Given the description of an element on the screen output the (x, y) to click on. 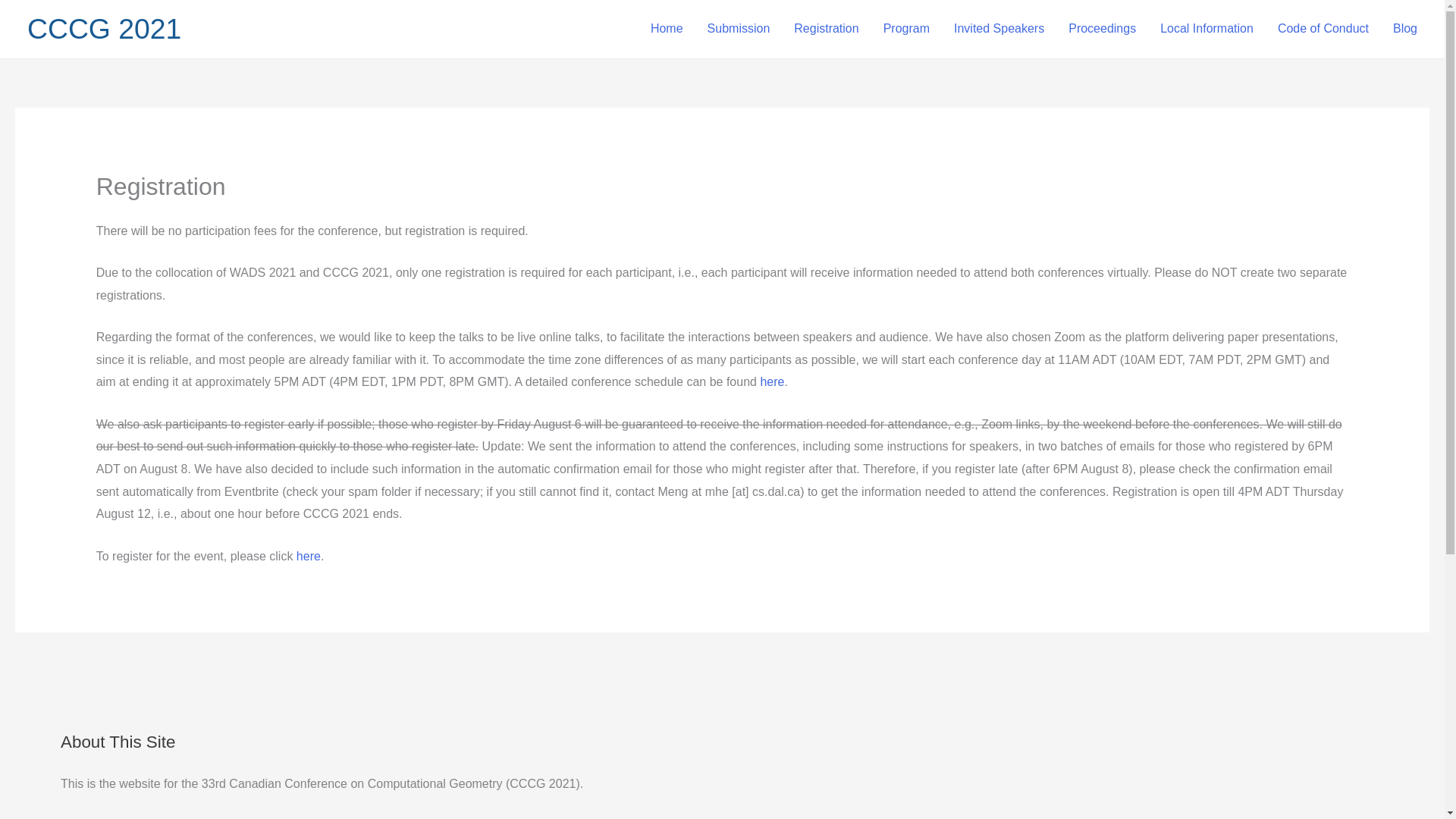
Proceedings (1102, 28)
here (772, 381)
Program (906, 28)
Home (667, 28)
CCCG 2021 (103, 29)
Registration (825, 28)
Blog (1404, 28)
Submission (739, 28)
here (308, 555)
Invited Speakers (999, 28)
